Given the description of an element on the screen output the (x, y) to click on. 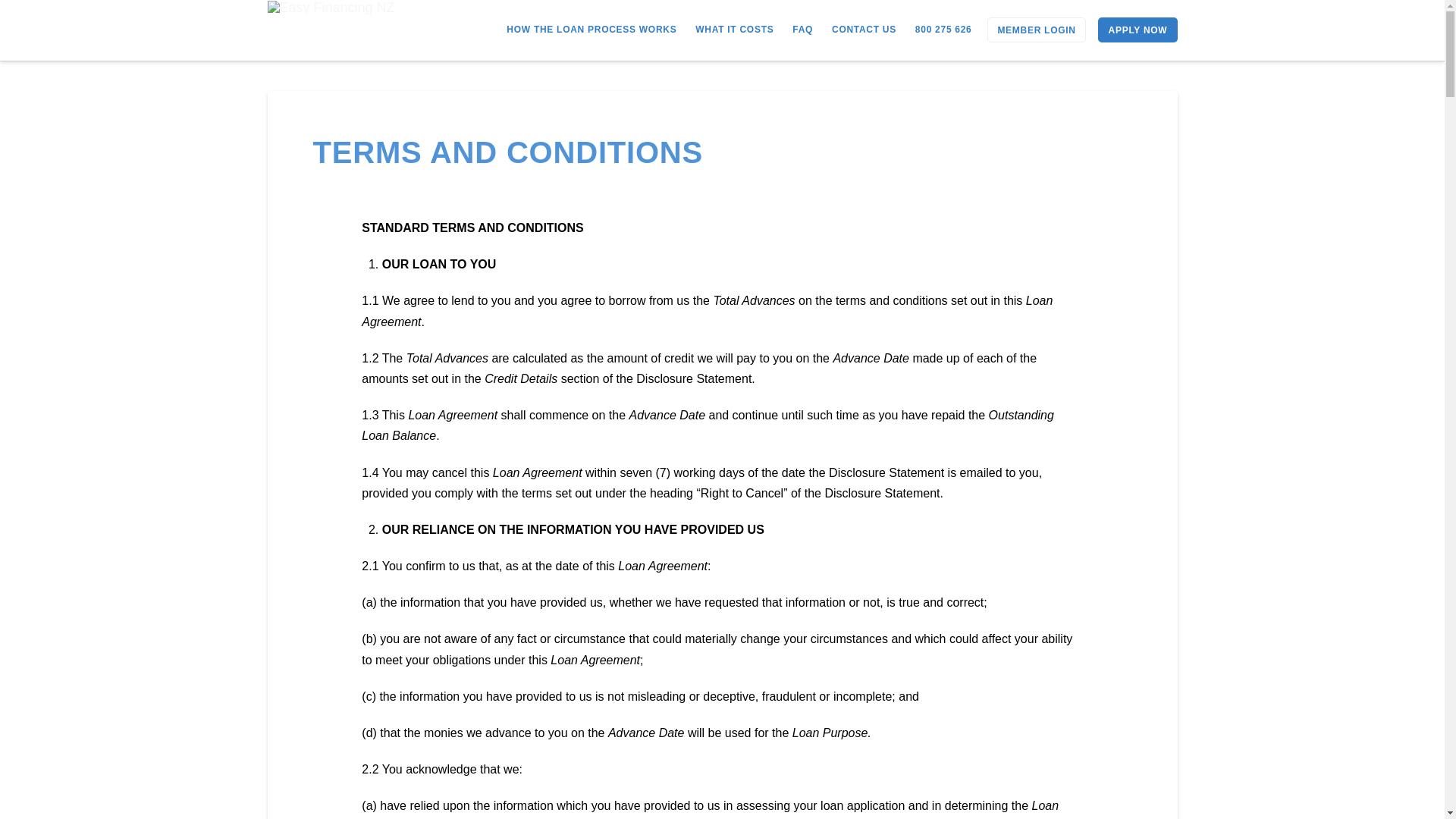
FAQ (802, 28)
WHAT IT COSTS (734, 28)
HOW THE LOAN PROCESS WORKS (591, 28)
APPLY NOW (1137, 29)
CONTACT US (863, 28)
800 275 626 (943, 28)
MEMBER LOGIN (1036, 29)
